Given the description of an element on the screen output the (x, y) to click on. 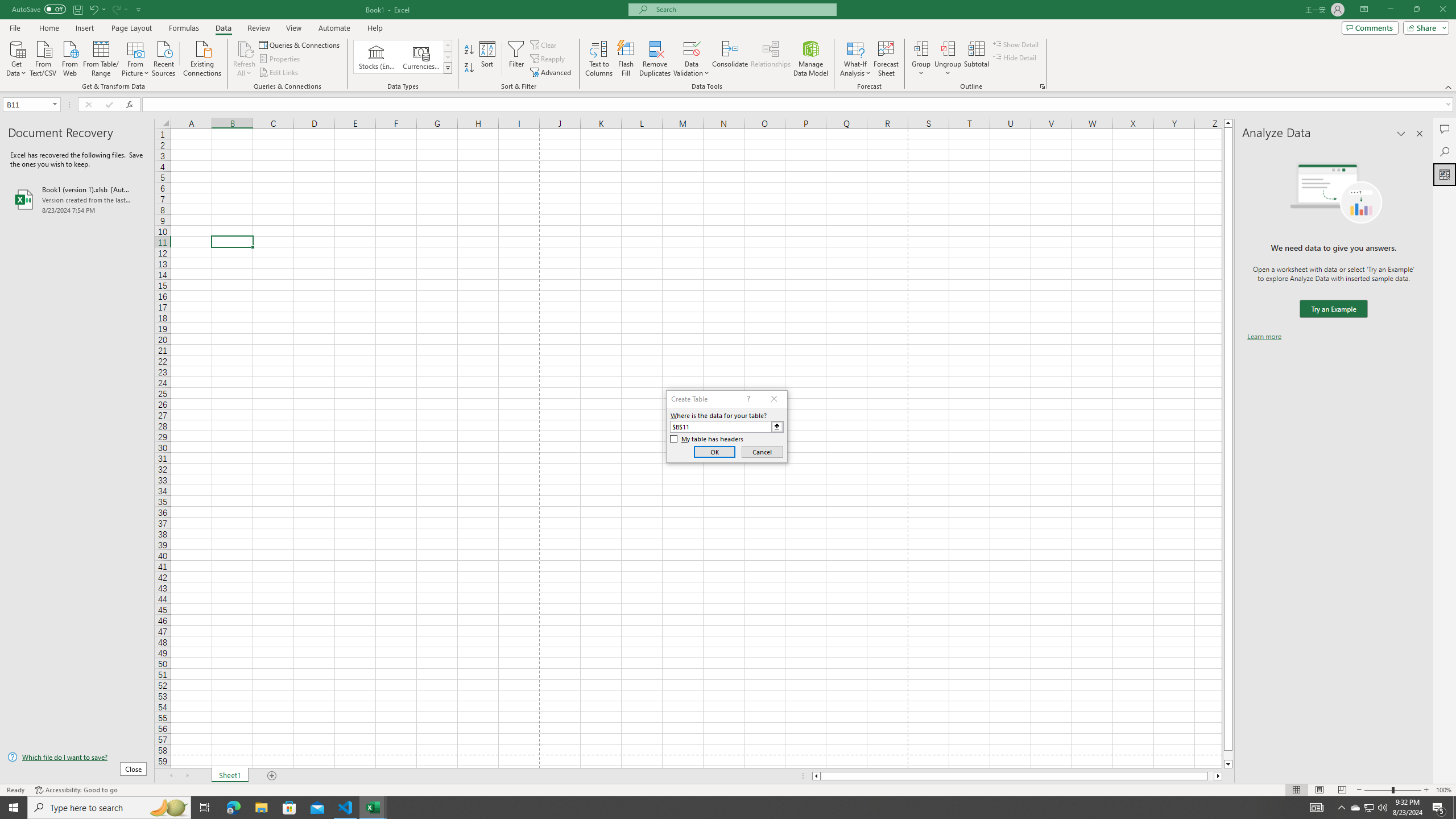
Book1 (version 1).xlsb  [AutoRecovered] (77, 199)
Page down (1228, 755)
Group and Outline Settings (1042, 85)
Properties (280, 58)
Task Pane Options (1400, 133)
Recent Sources (163, 57)
Refresh All (244, 48)
Relationships (770, 58)
